Given the description of an element on the screen output the (x, y) to click on. 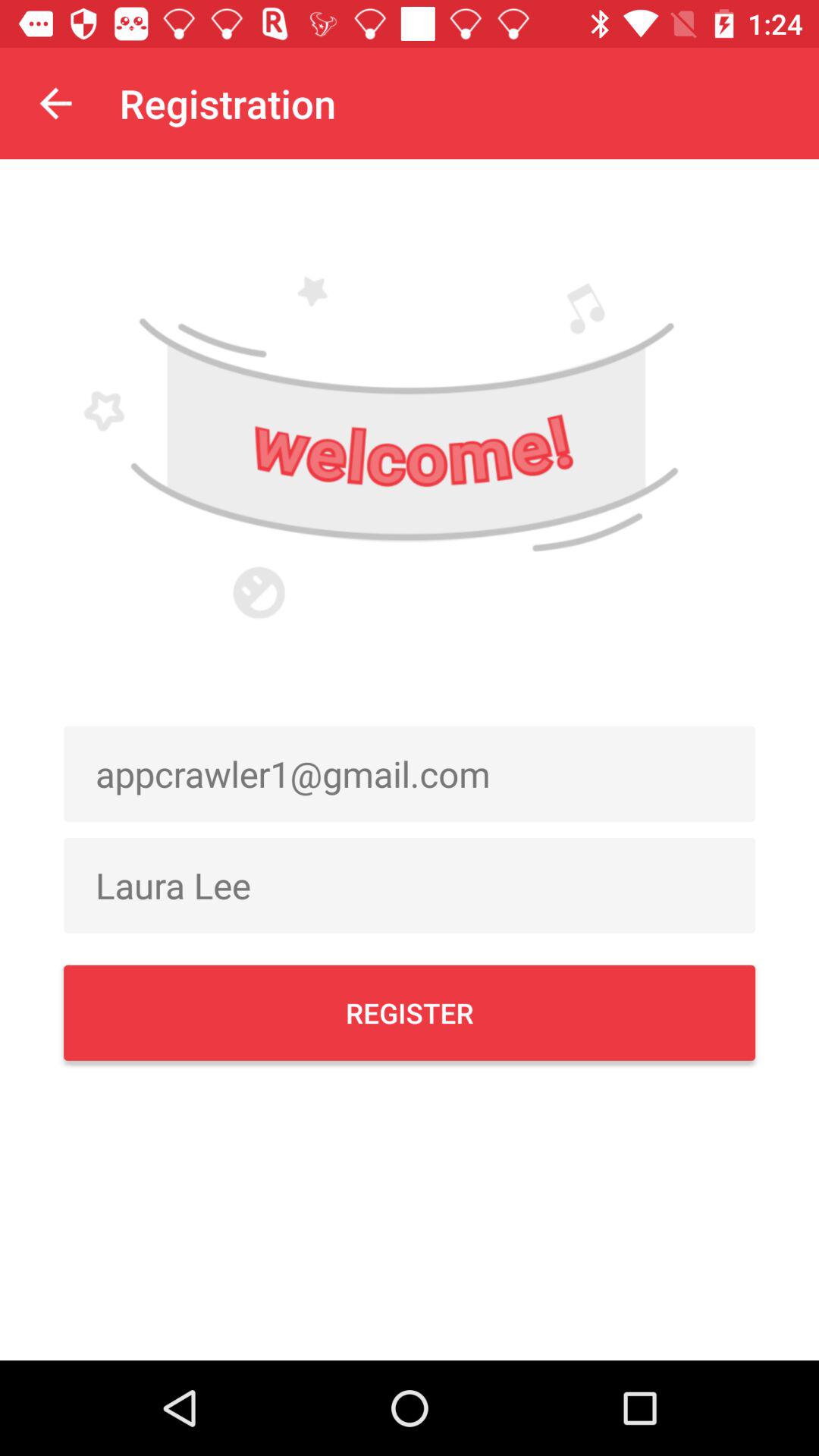
scroll until the laura lee item (409, 885)
